Given the description of an element on the screen output the (x, y) to click on. 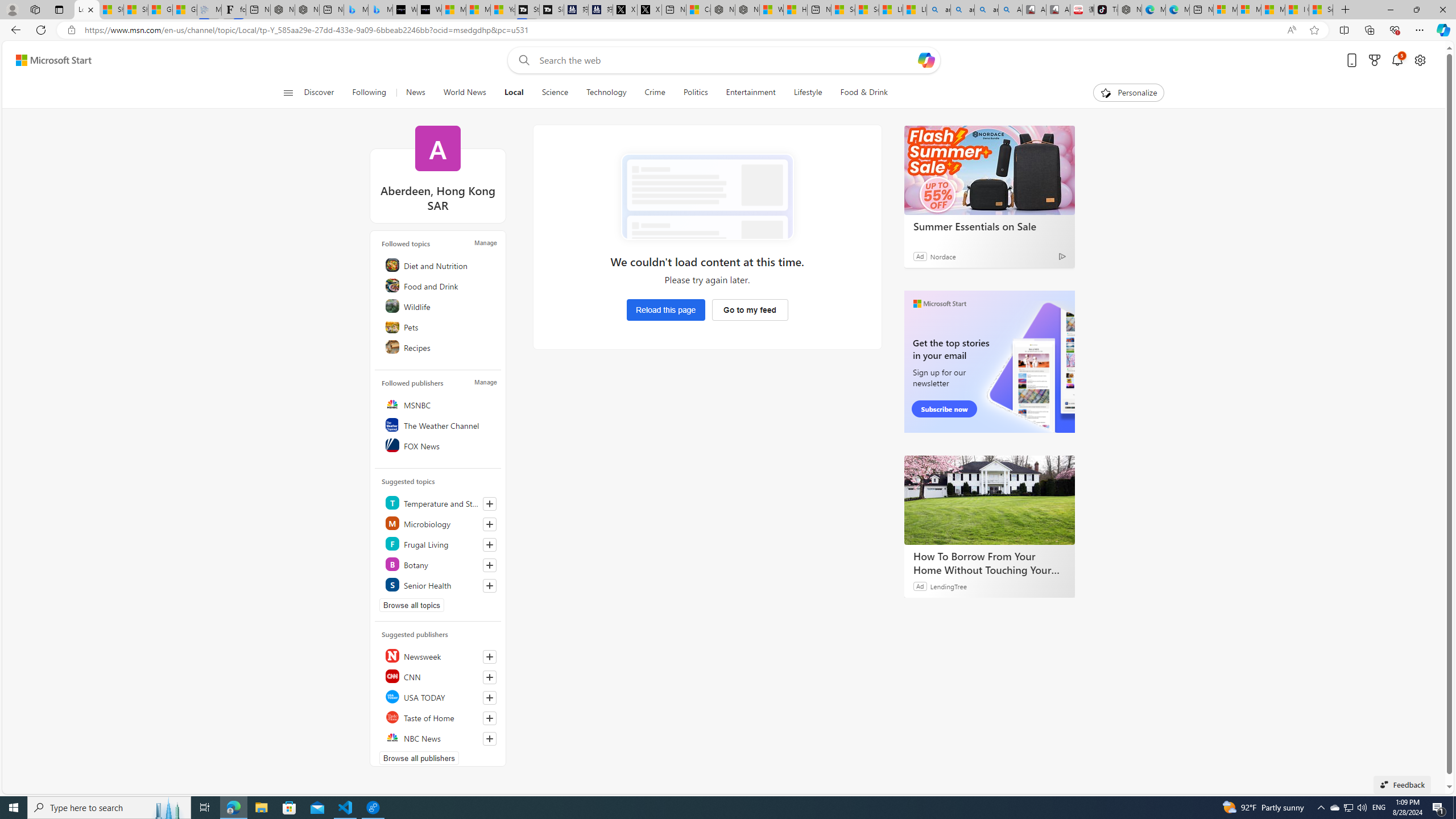
Streaming Coverage | T3 (526, 9)
Summer Essentials on Sale (988, 226)
TikTok (1105, 9)
Skip to content (49, 59)
